Given the description of an element on the screen output the (x, y) to click on. 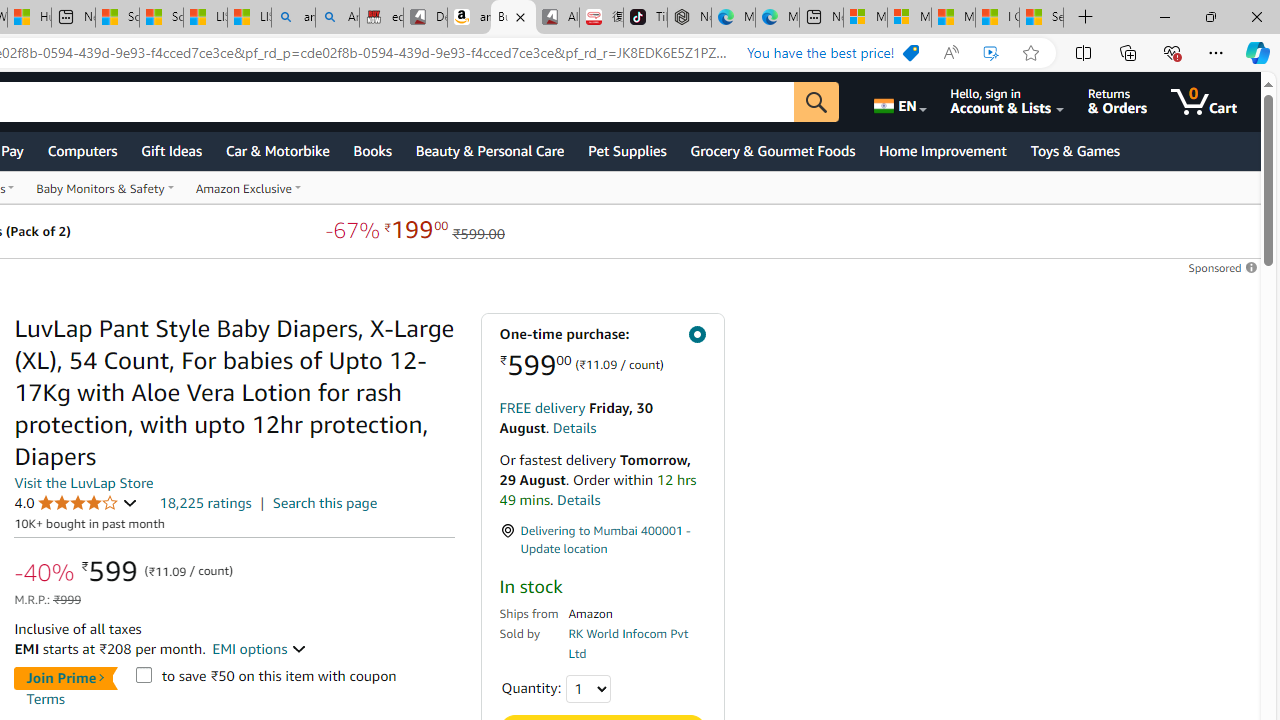
Books (372, 150)
